Given the description of an element on the screen output the (x, y) to click on. 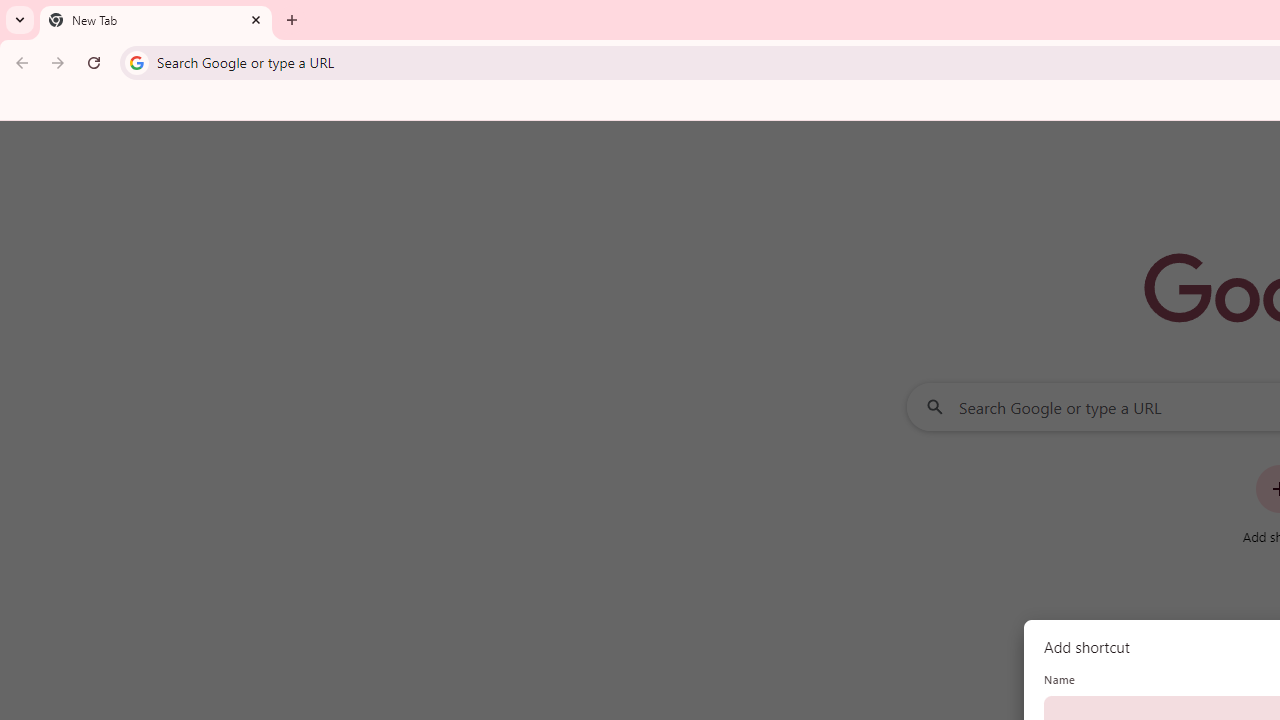
New Tab (156, 20)
